Given the description of an element on the screen output the (x, y) to click on. 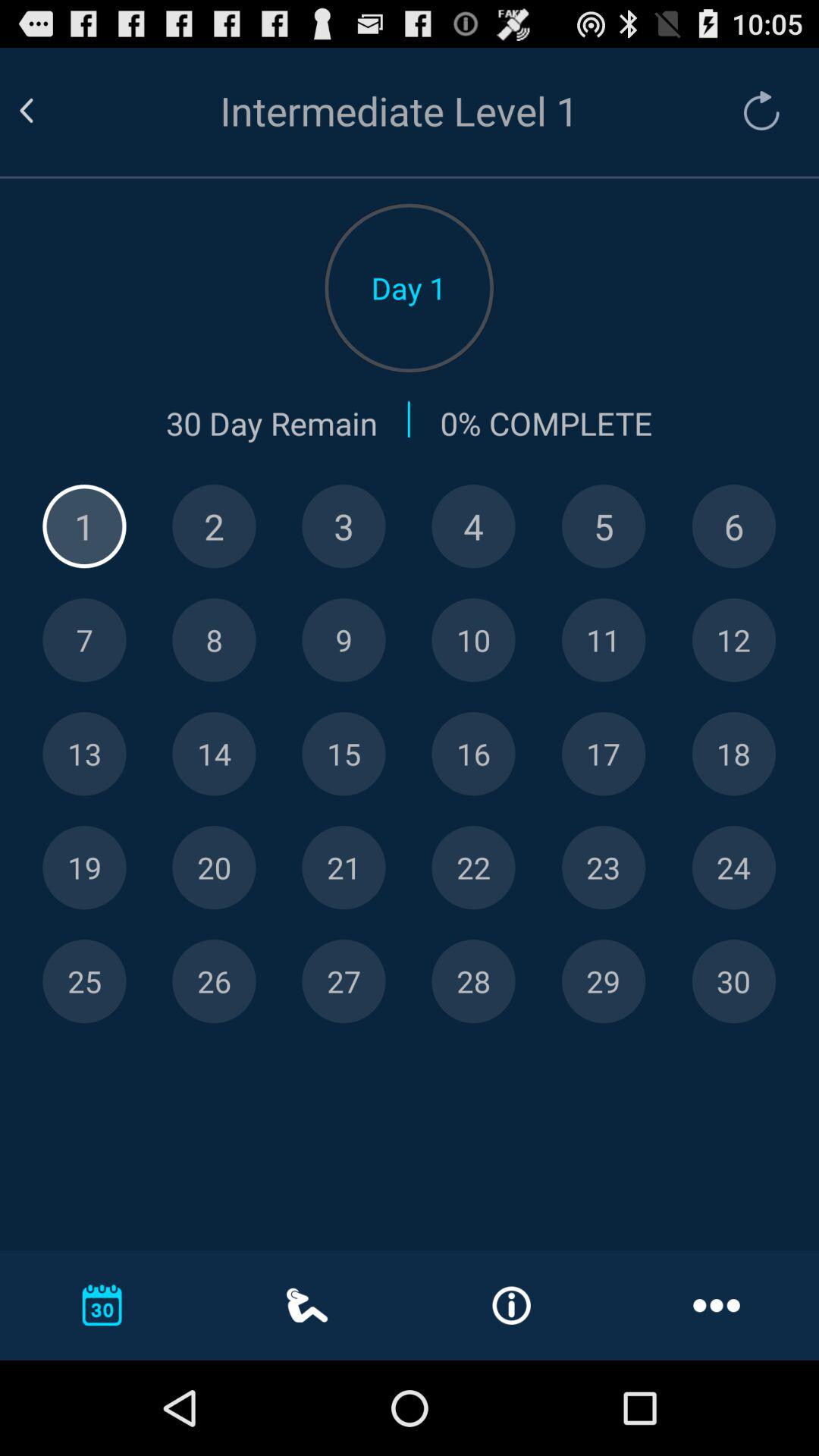
view specific day (473, 867)
